Given the description of an element on the screen output the (x, y) to click on. 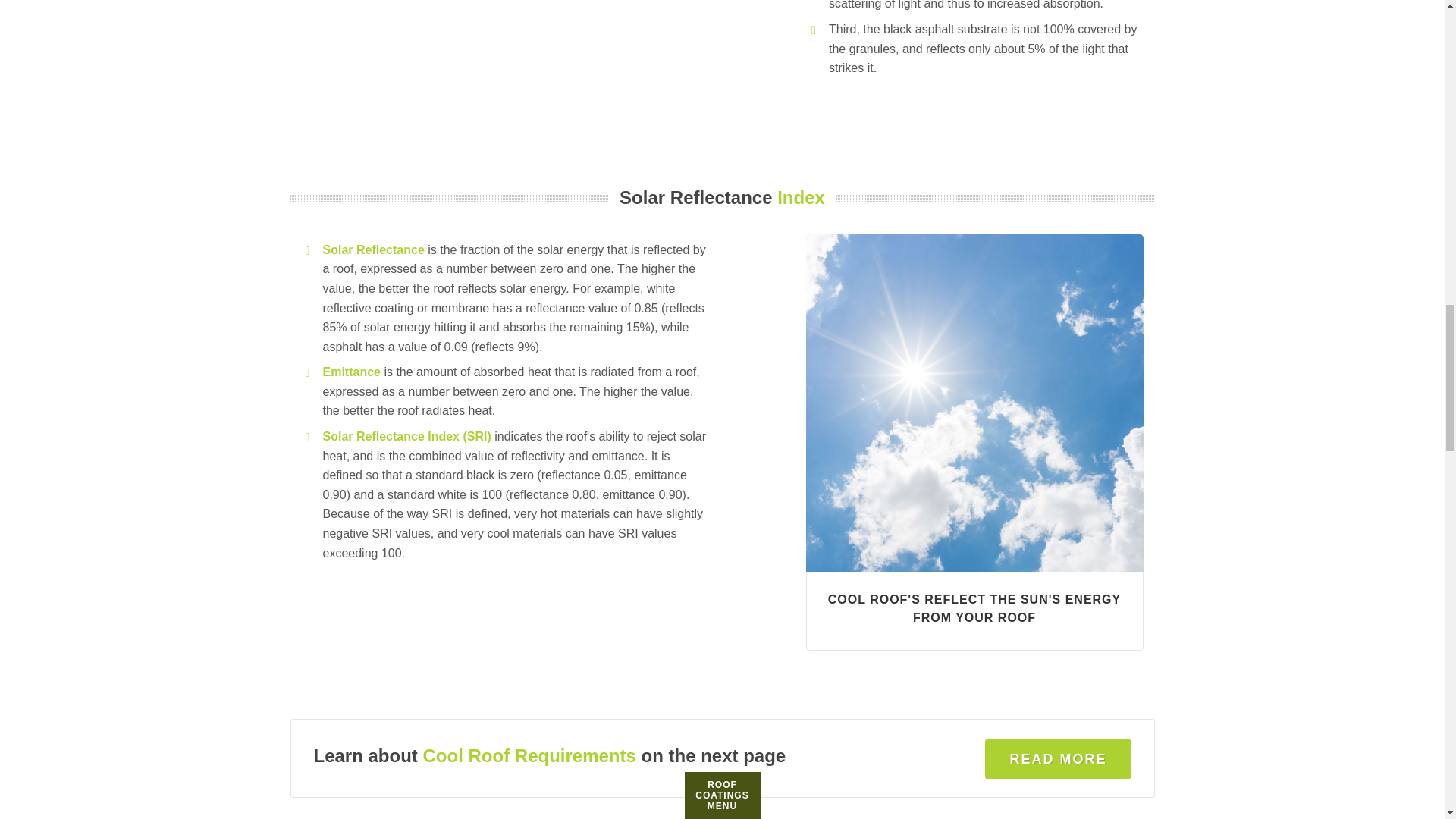
READ MORE (1058, 758)
